Given the description of an element on the screen output the (x, y) to click on. 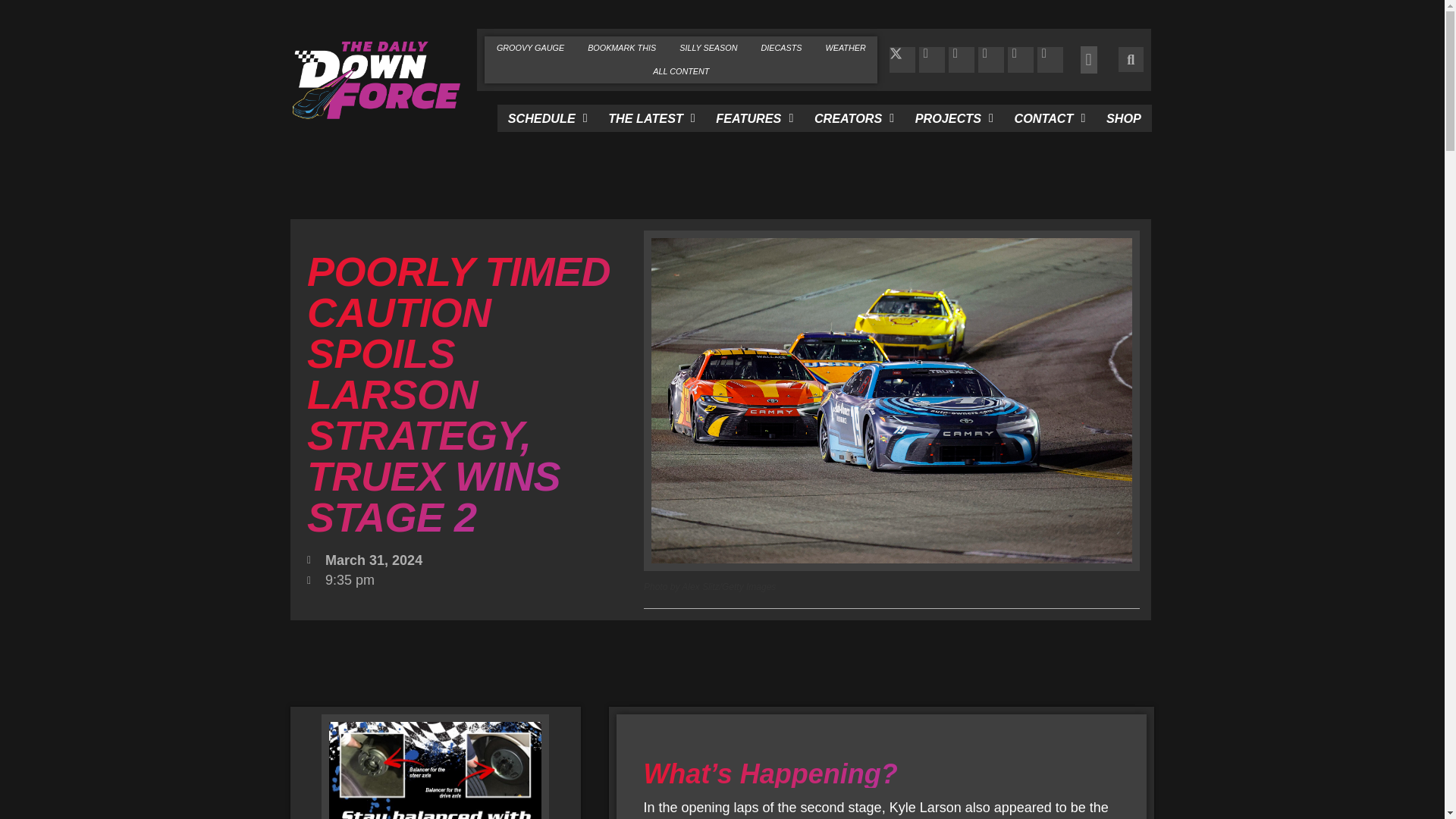
BOOKMARK THIS (622, 47)
WEATHER (845, 47)
ALL CONTENT (680, 71)
GROOVY GAUGE (529, 47)
SCHEDULE (547, 117)
DIECASTS (781, 47)
FEATURES (755, 117)
SILLY SEASON (708, 47)
THE LATEST (650, 117)
